Given the description of an element on the screen output the (x, y) to click on. 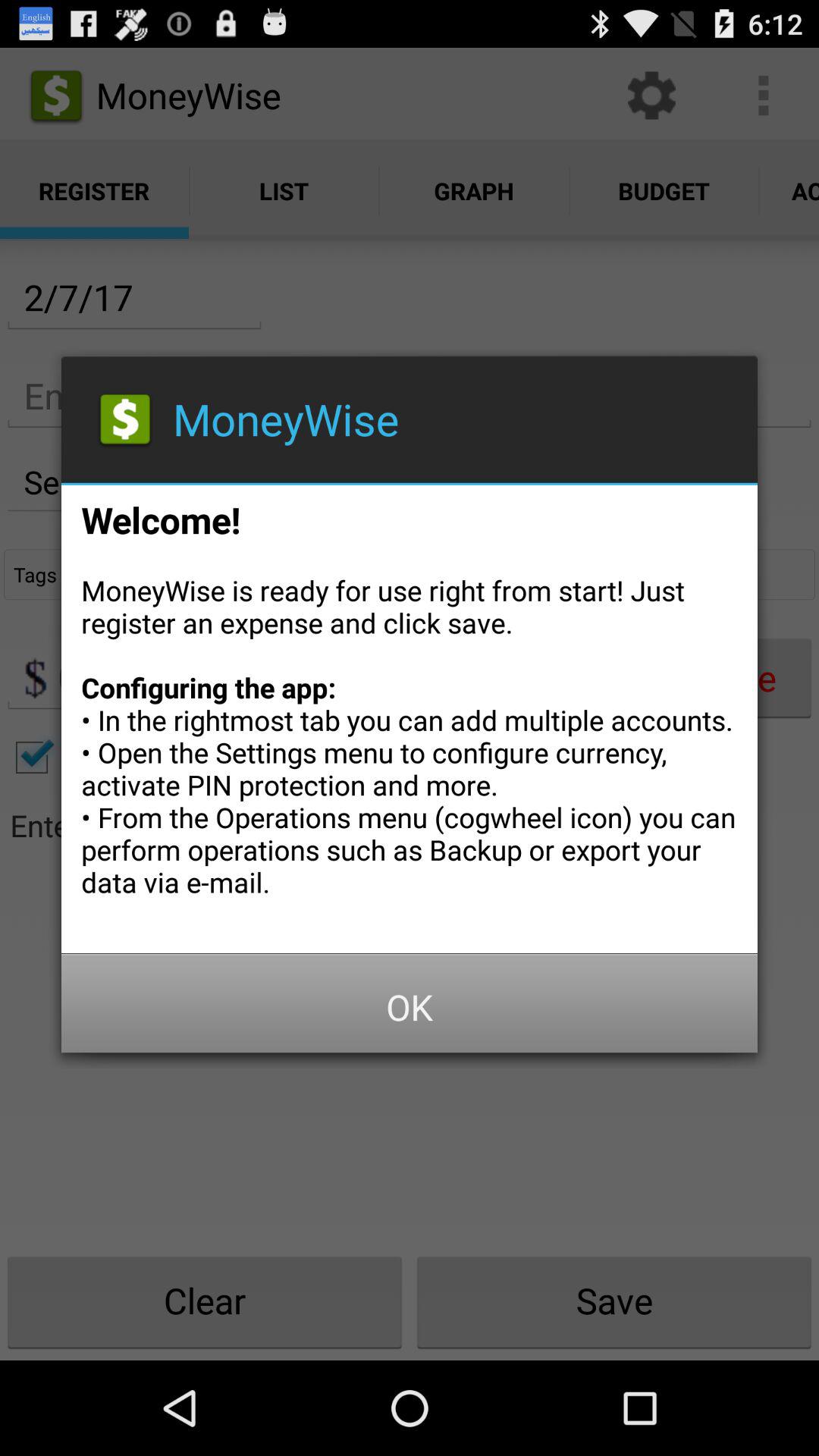
turn on ok button (409, 1007)
